Given the description of an element on the screen output the (x, y) to click on. 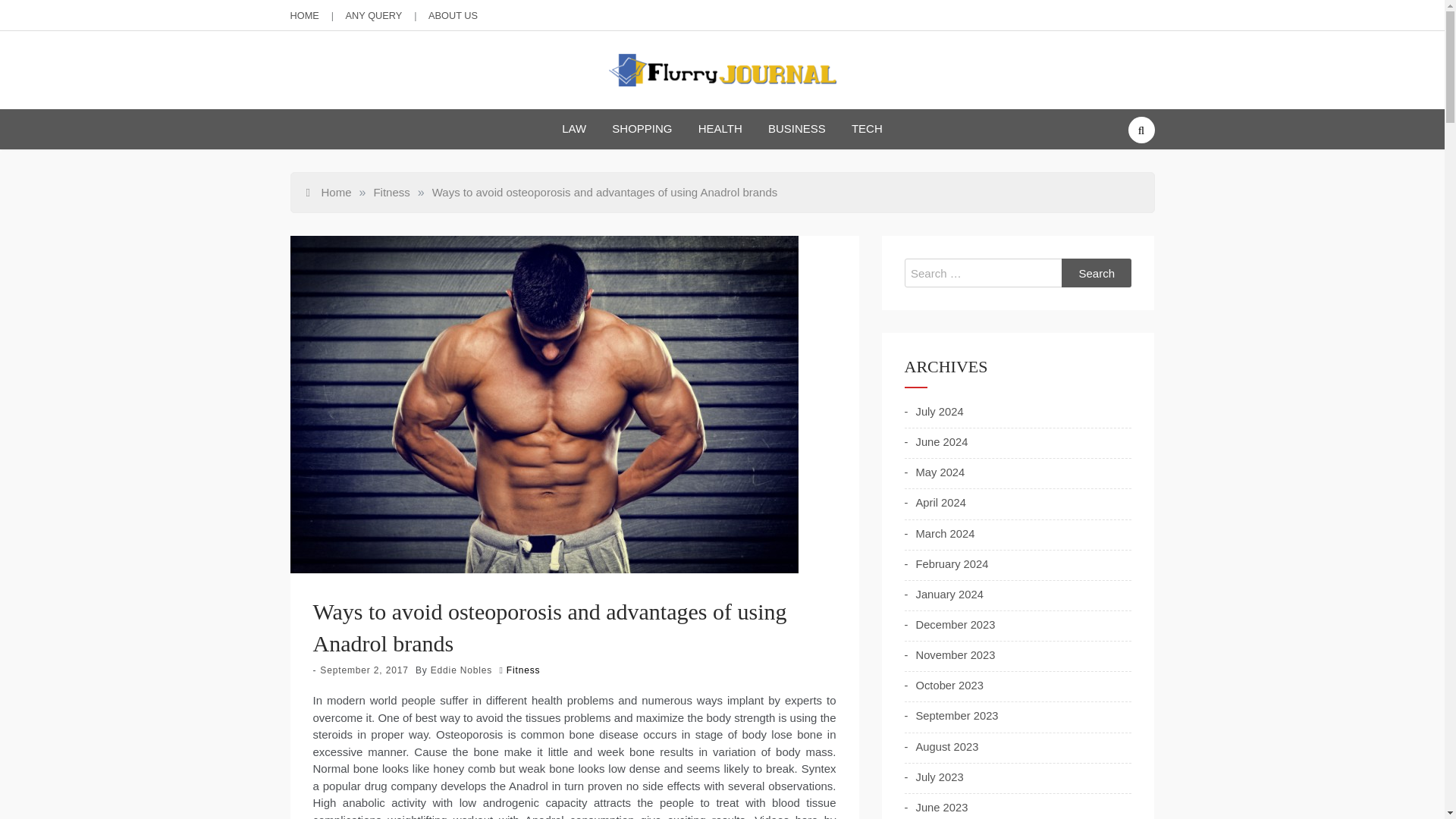
Search (1096, 272)
SHOPPING (641, 128)
Fitness (523, 670)
June 2024 (936, 442)
Eddie Nobles (461, 670)
HOME (303, 15)
ANY QUERY (374, 15)
July 2024 (933, 411)
March 2024 (939, 533)
October 2023 (943, 685)
February 2024 (946, 564)
HEALTH (720, 128)
BUSINESS (796, 128)
January 2024 (943, 594)
